Given the description of an element on the screen output the (x, y) to click on. 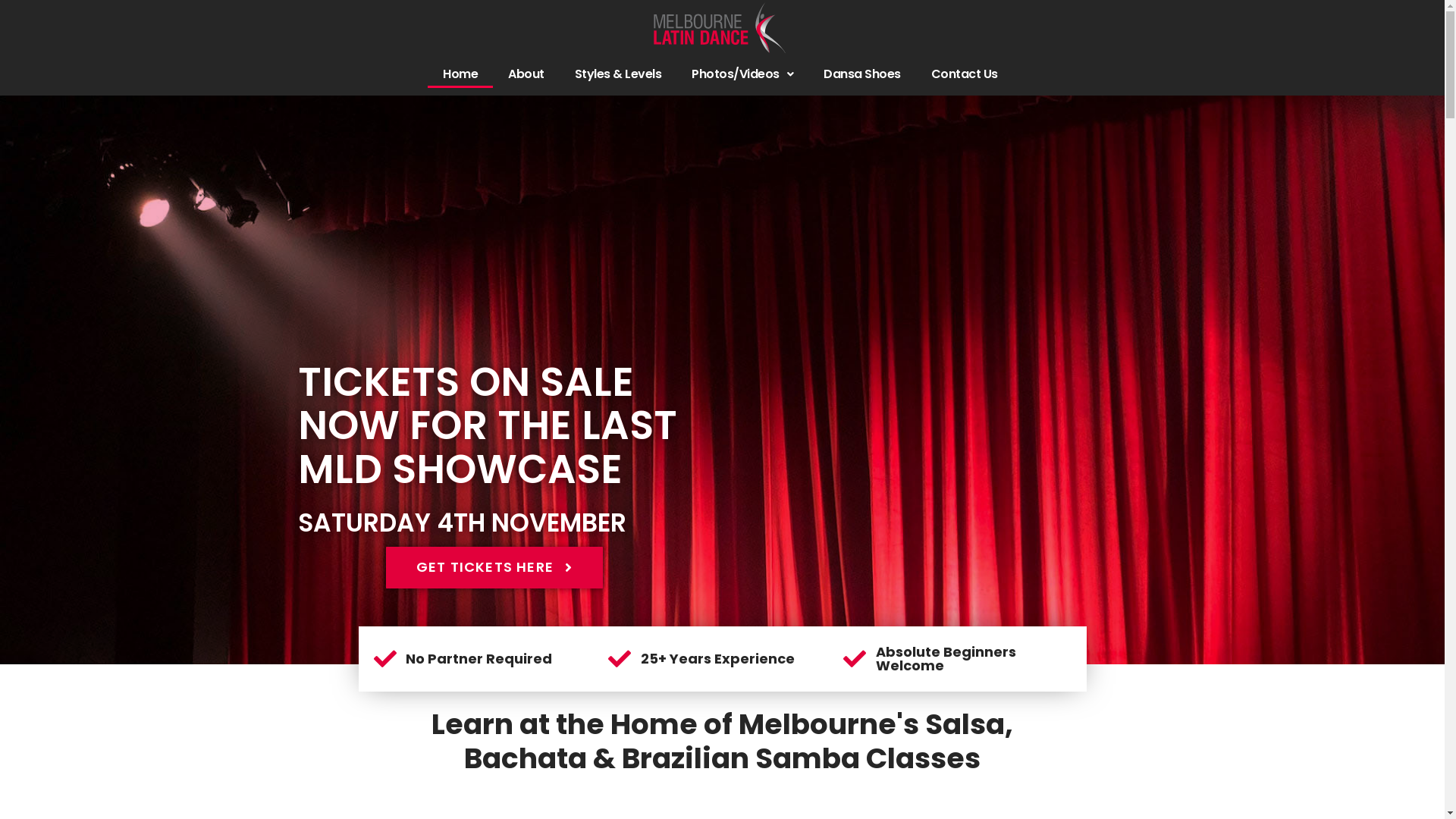
Home Element type: text (459, 73)
Styles & Levels Element type: text (618, 73)
Photos/Videos Element type: text (742, 73)
Dansa Shoes Element type: text (862, 73)
GET TICKETS HERE Element type: text (493, 567)
Contact Us Element type: text (964, 73)
About Element type: text (525, 73)
